Given the description of an element on the screen output the (x, y) to click on. 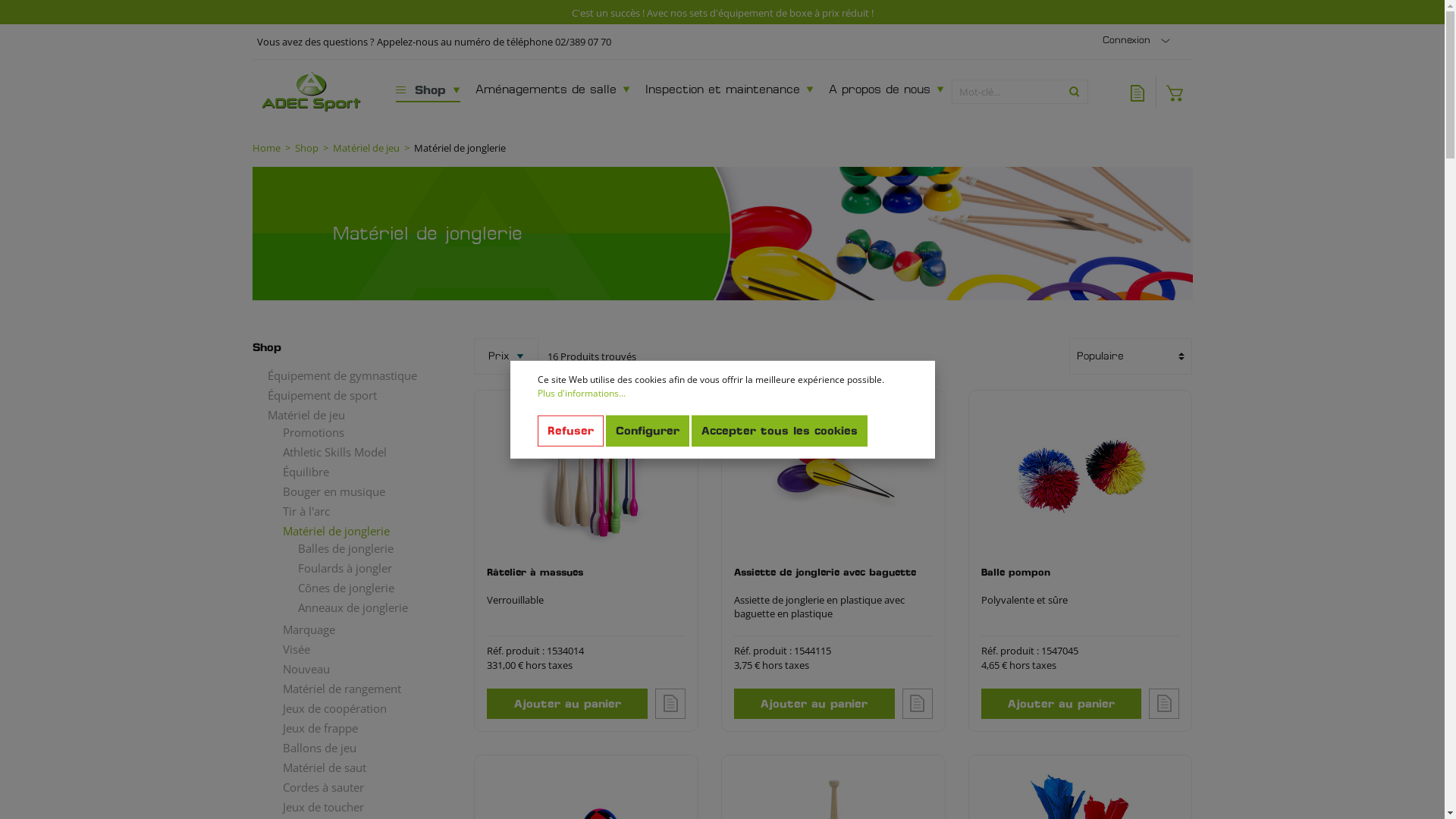
Ajouter au panier Element type: text (566, 703)
Nouveau Element type: text (354, 668)
Refuser Element type: text (569, 430)
Anneaux de jonglerie Element type: text (362, 606)
Promotions Element type: text (354, 431)
Shop Element type: text (305, 148)
Home Element type: text (265, 148)
Plus d'informations... Element type: text (580, 393)
Bouger en musique Element type: text (354, 490)
Ballons de jeu Element type: text (354, 747)
Balles de jonglerie Element type: text (362, 547)
Connexion Element type: text (1138, 40)
Balle pompon Element type: hover (1080, 477)
Athletic Skills Model Element type: text (354, 451)
Inspection et maintenance Element type: text (729, 91)
Assiette de jonglerie avec baguette Element type: text (833, 579)
Shop Element type: text (427, 91)
A propos de nous Element type: text (886, 91)
Balle pompon Element type: text (1080, 579)
Accepter tous les cookies Element type: text (779, 430)
Assiette de jonglerie avec baguette Element type: hover (833, 477)
Shop Element type: text (347, 346)
Marquage Element type: text (354, 629)
Configurer Element type: text (646, 430)
Jeux de toucher Element type: text (354, 806)
Ajouter au panier Element type: text (1061, 703)
Panier Element type: hover (1173, 91)
Jeux de frappe Element type: text (354, 727)
Liste de voeux Element type: hover (1137, 91)
Prix Element type: text (505, 356)
Ajouter au panier Element type: text (814, 703)
